Given the description of an element on the screen output the (x, y) to click on. 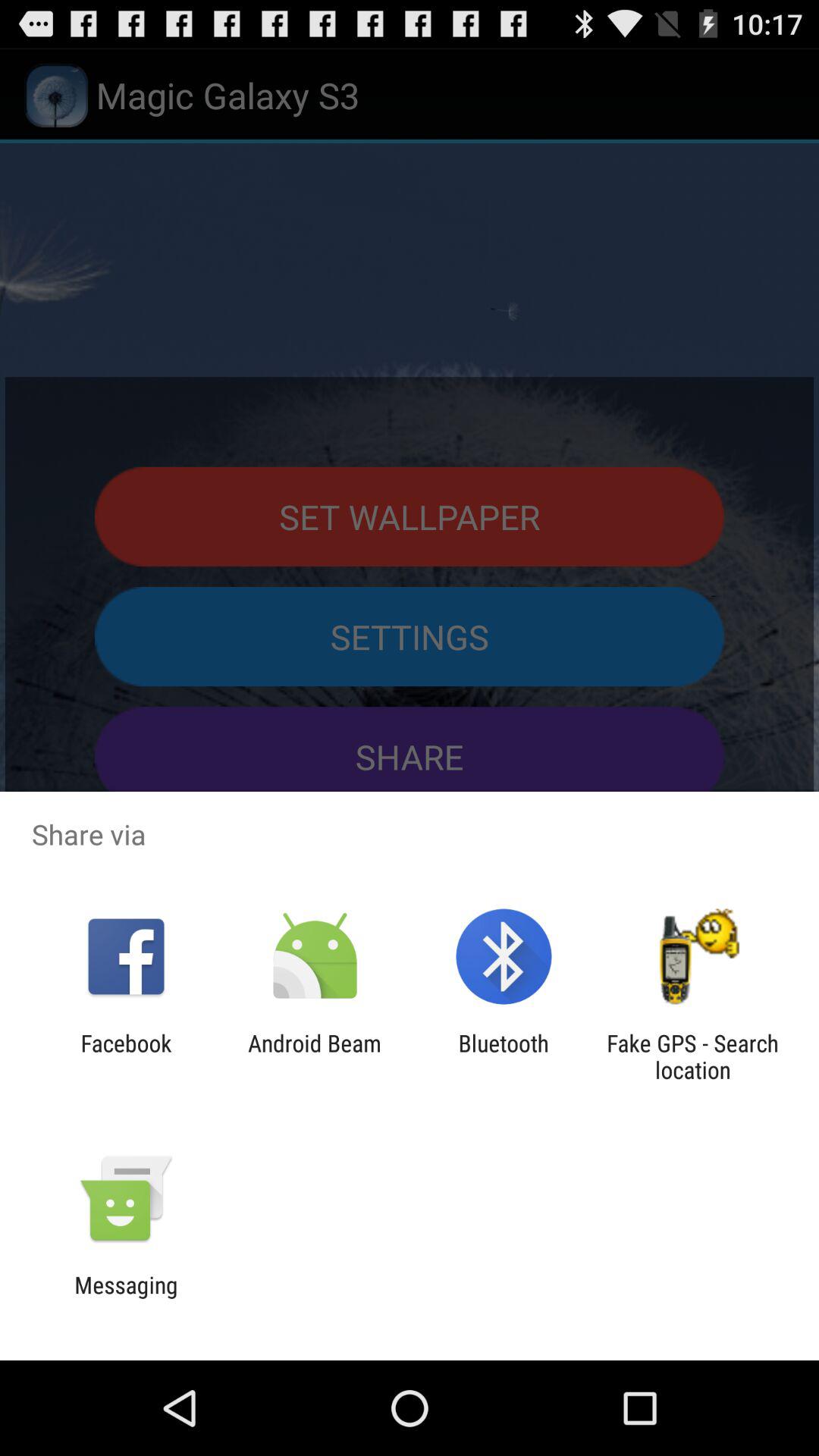
open the bluetooth app (503, 1056)
